Given the description of an element on the screen output the (x, y) to click on. 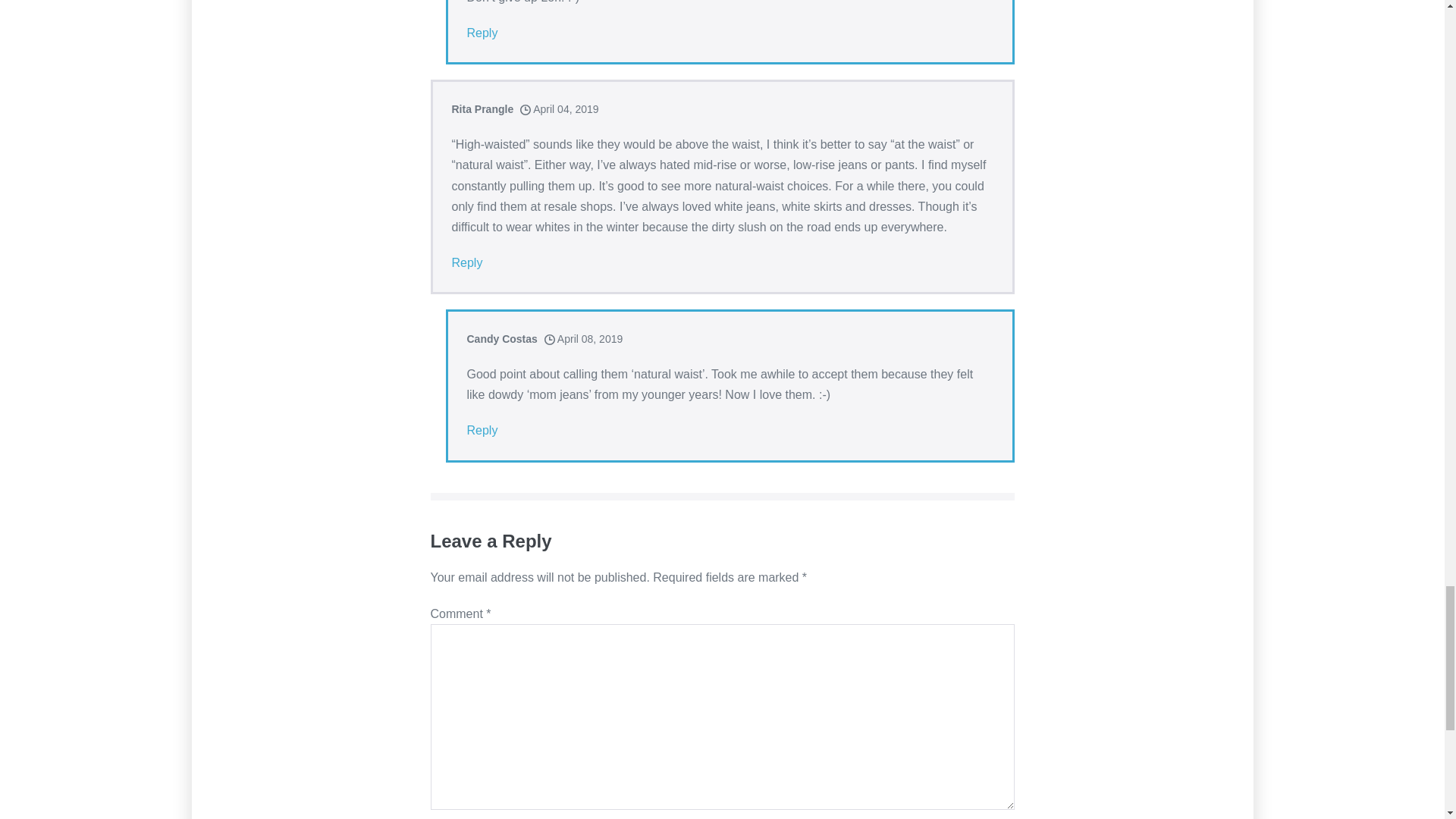
April 04, 2019 (558, 109)
April 08, 2019 (583, 338)
Reply (482, 430)
Reply (482, 32)
Reply (467, 262)
